Given the description of an element on the screen output the (x, y) to click on. 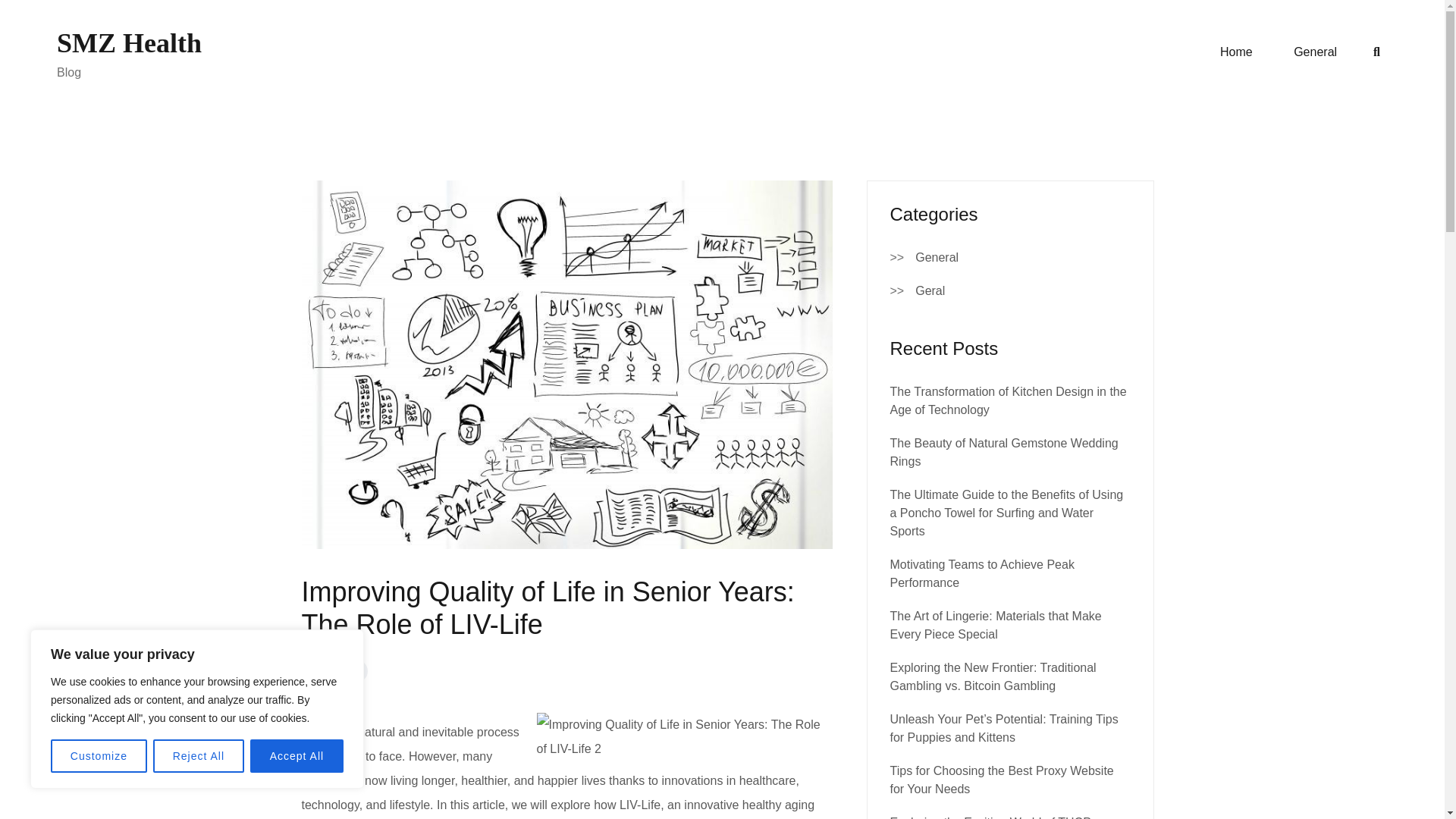
Customize (98, 756)
Accept All (296, 756)
General (1315, 52)
Home (1236, 52)
SMZ Health (129, 42)
Motivating Teams to Achieve Peak Performance (981, 572)
General (936, 257)
GENERAL (334, 671)
The Beauty of Natural Gemstone Wedding Rings (1003, 451)
The Art of Lingerie: Materials that Make Every Piece Special (995, 624)
Reject All (198, 756)
Geral (929, 290)
